Given the description of an element on the screen output the (x, y) to click on. 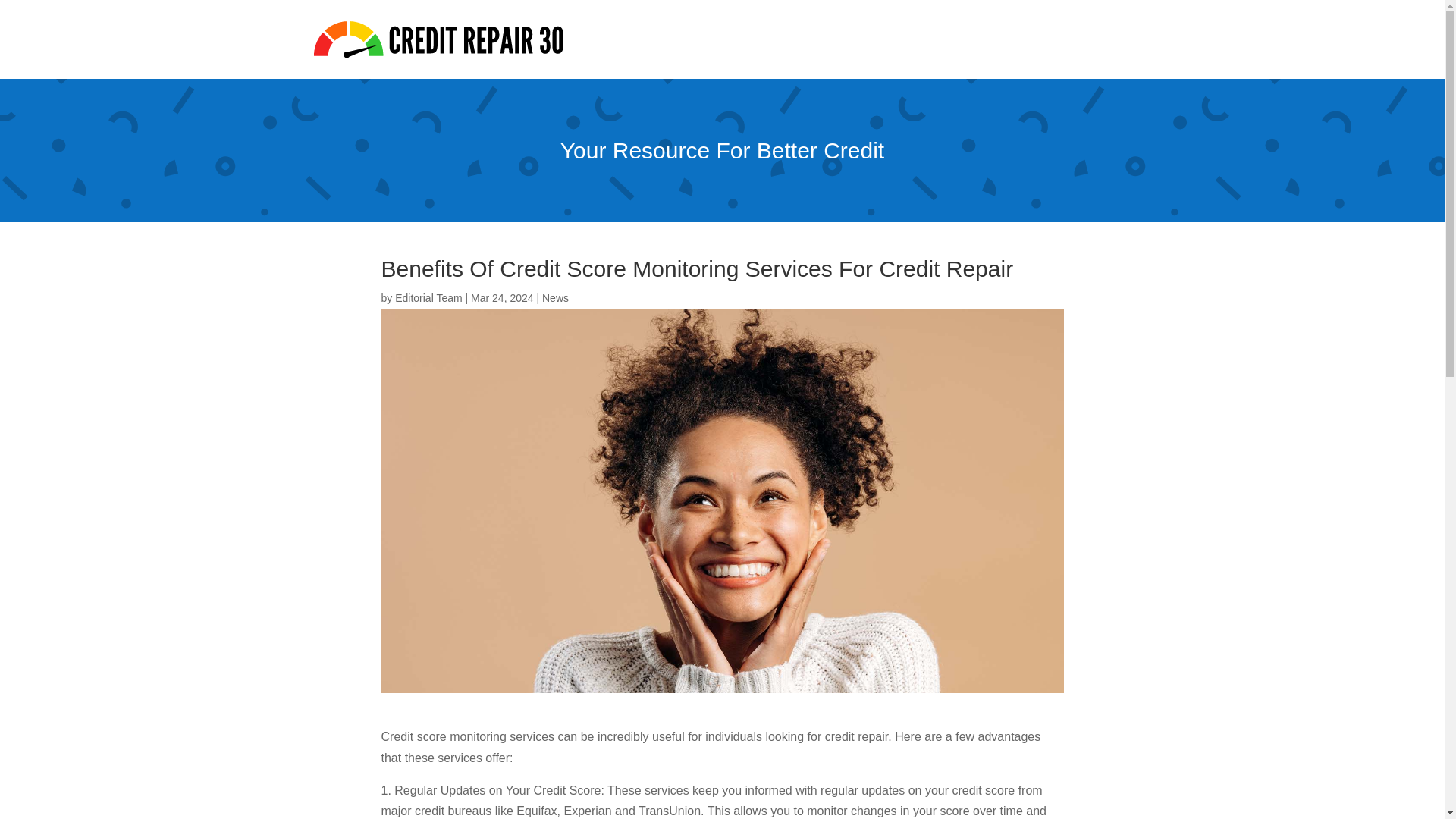
News (555, 297)
Posts by Editorial Team (427, 297)
Editorial Team (427, 297)
